Given the description of an element on the screen output the (x, y) to click on. 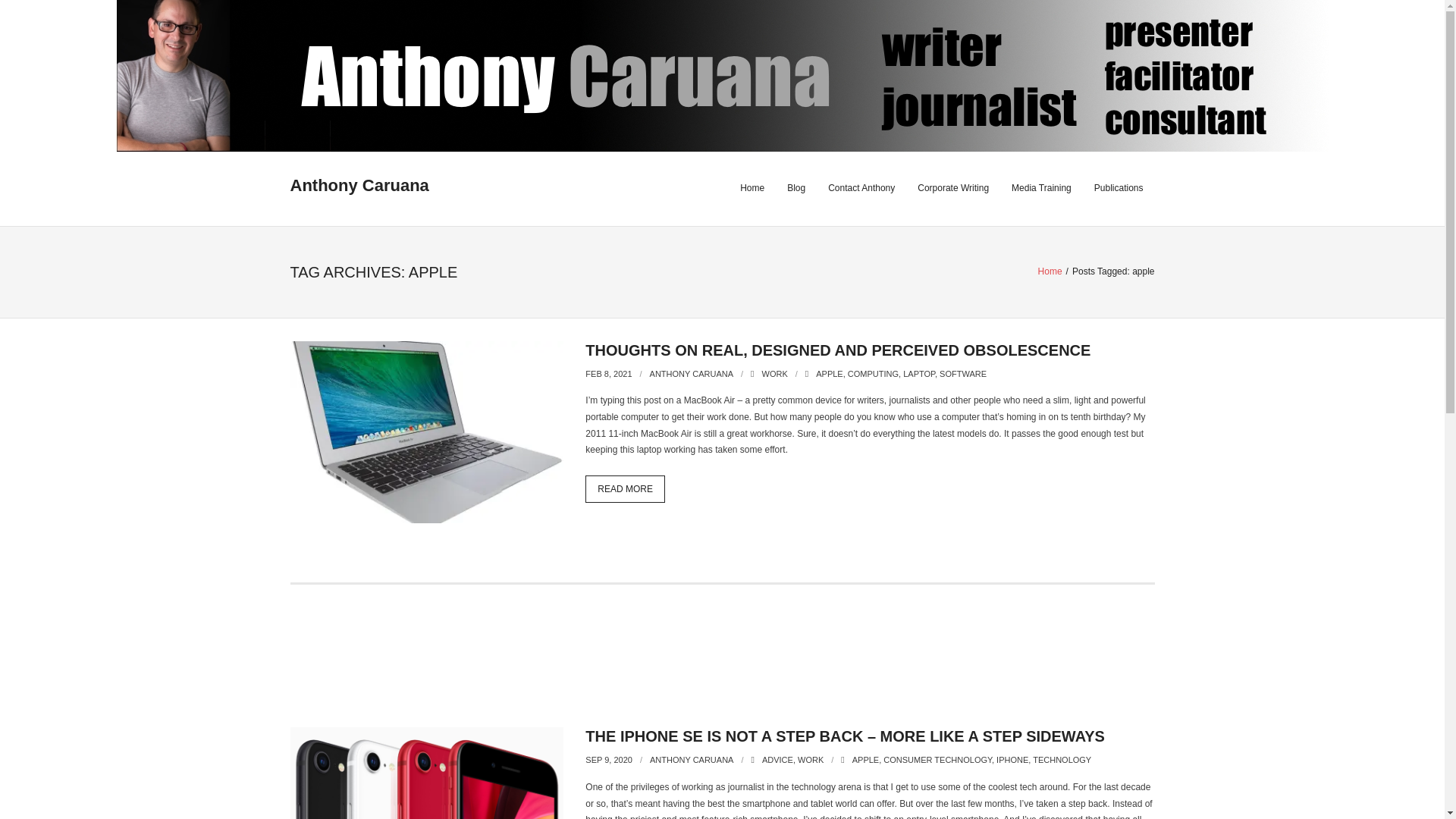
TECHNOLOGY (1061, 759)
SOFTWARE (963, 373)
View all posts by Anthony Caruana (691, 373)
View all posts by Anthony Caruana (691, 759)
Contact Anthony (860, 188)
WORK (774, 373)
ANTHONY CARUANA (691, 759)
LAPTOP (918, 373)
SEP 9, 2020 (608, 759)
WORK (810, 759)
COMPUTING (872, 373)
IPHONE (1011, 759)
ADVICE (777, 759)
Publications (1118, 188)
Corporate Writing (952, 188)
